Given the description of an element on the screen output the (x, y) to click on. 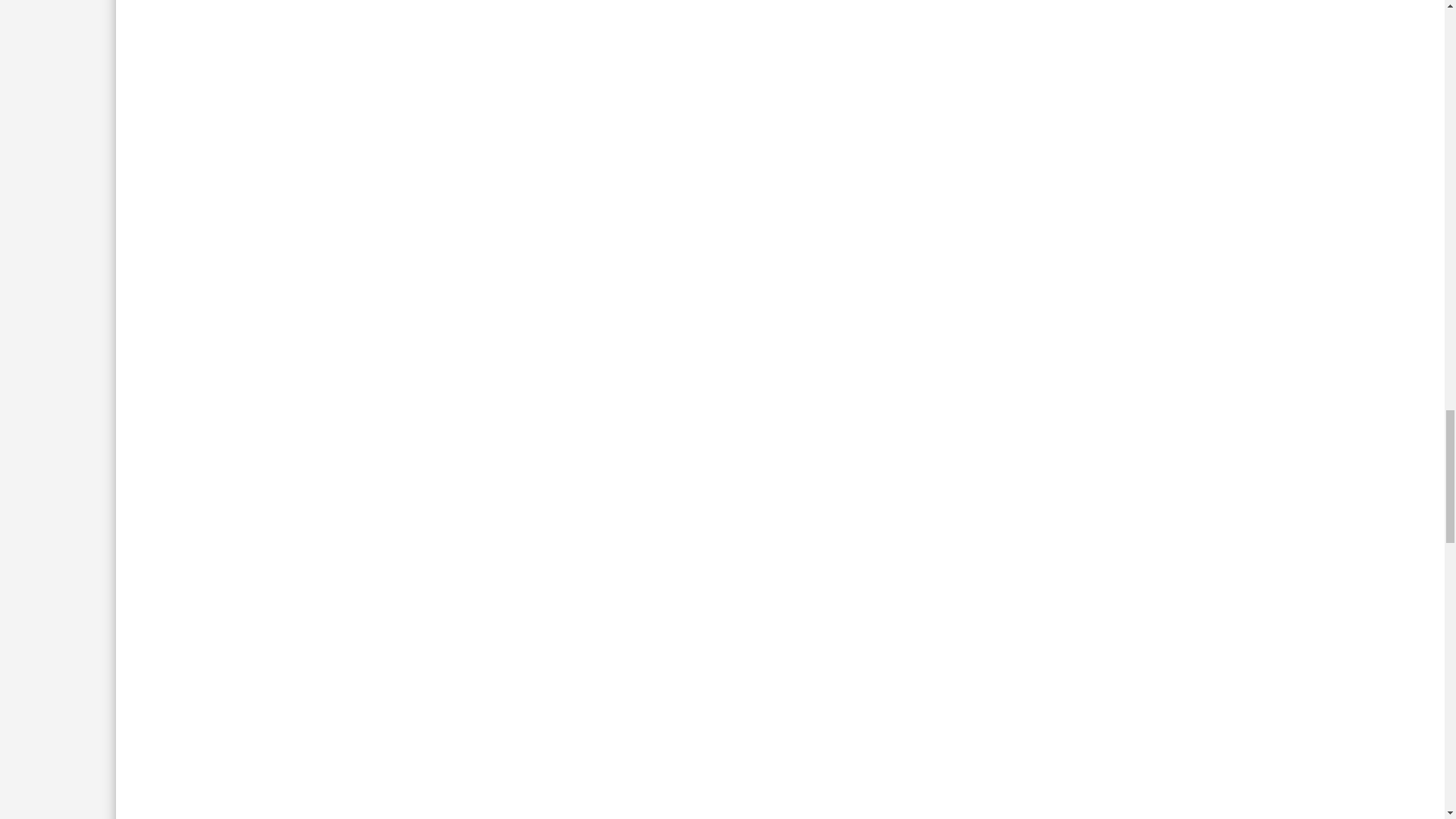
read my book about vaginal hysterectomy (511, 148)
